Given the description of an element on the screen output the (x, y) to click on. 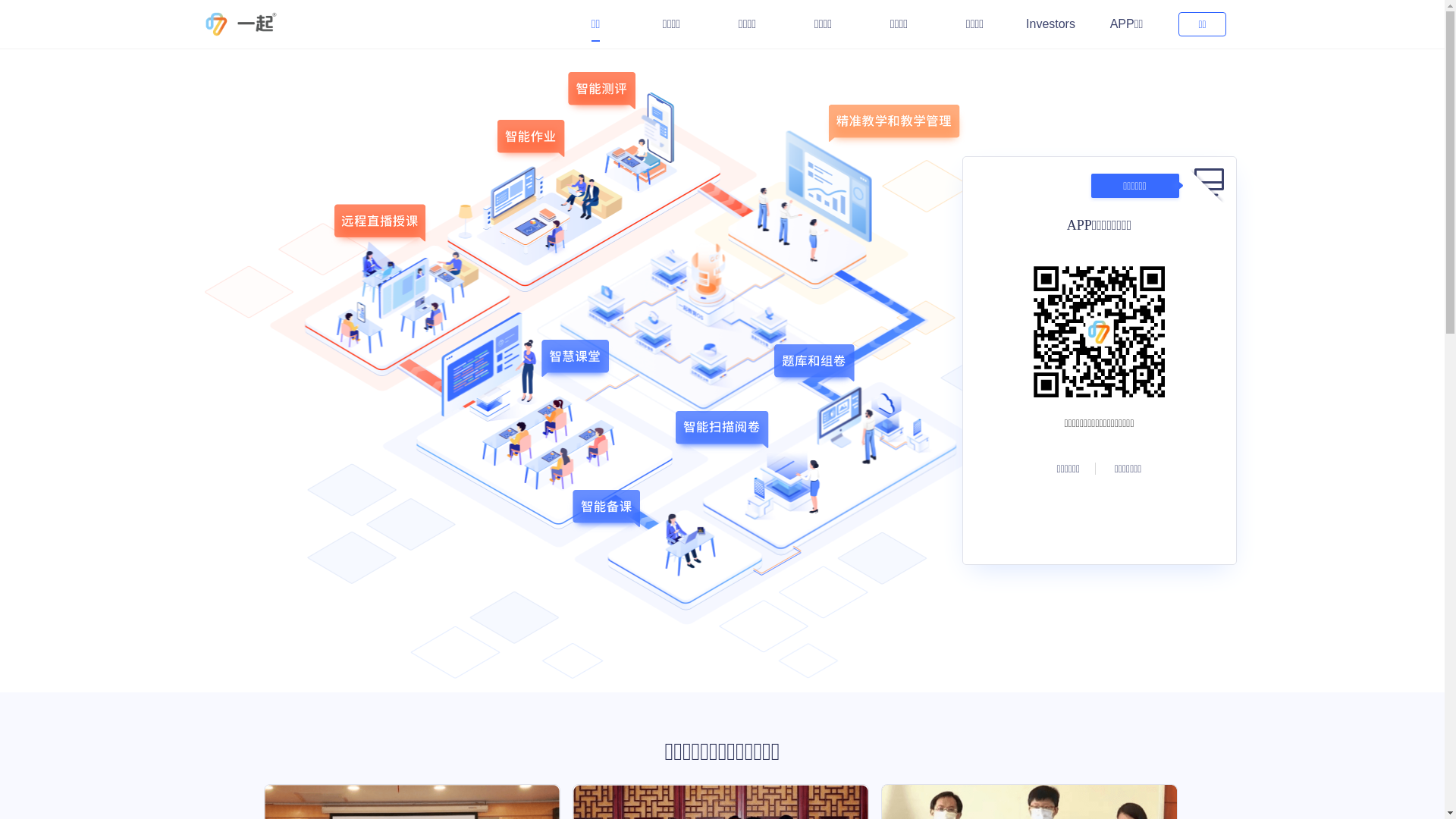
Investors Element type: text (1050, 24)
